Given the description of an element on the screen output the (x, y) to click on. 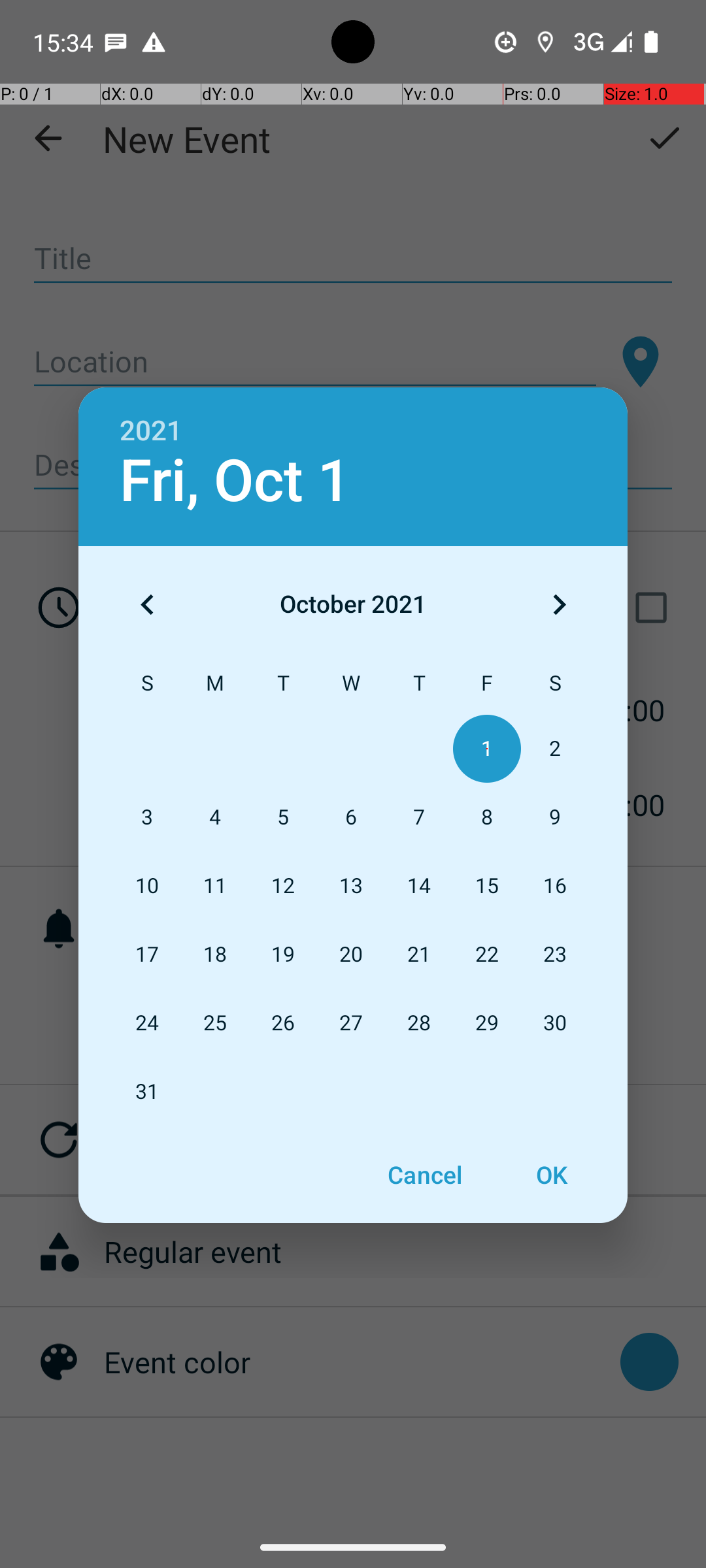
2021 Element type: android.widget.TextView (150, 430)
Fri, Oct 1 Element type: android.widget.TextView (235, 480)
